Given the description of an element on the screen output the (x, y) to click on. 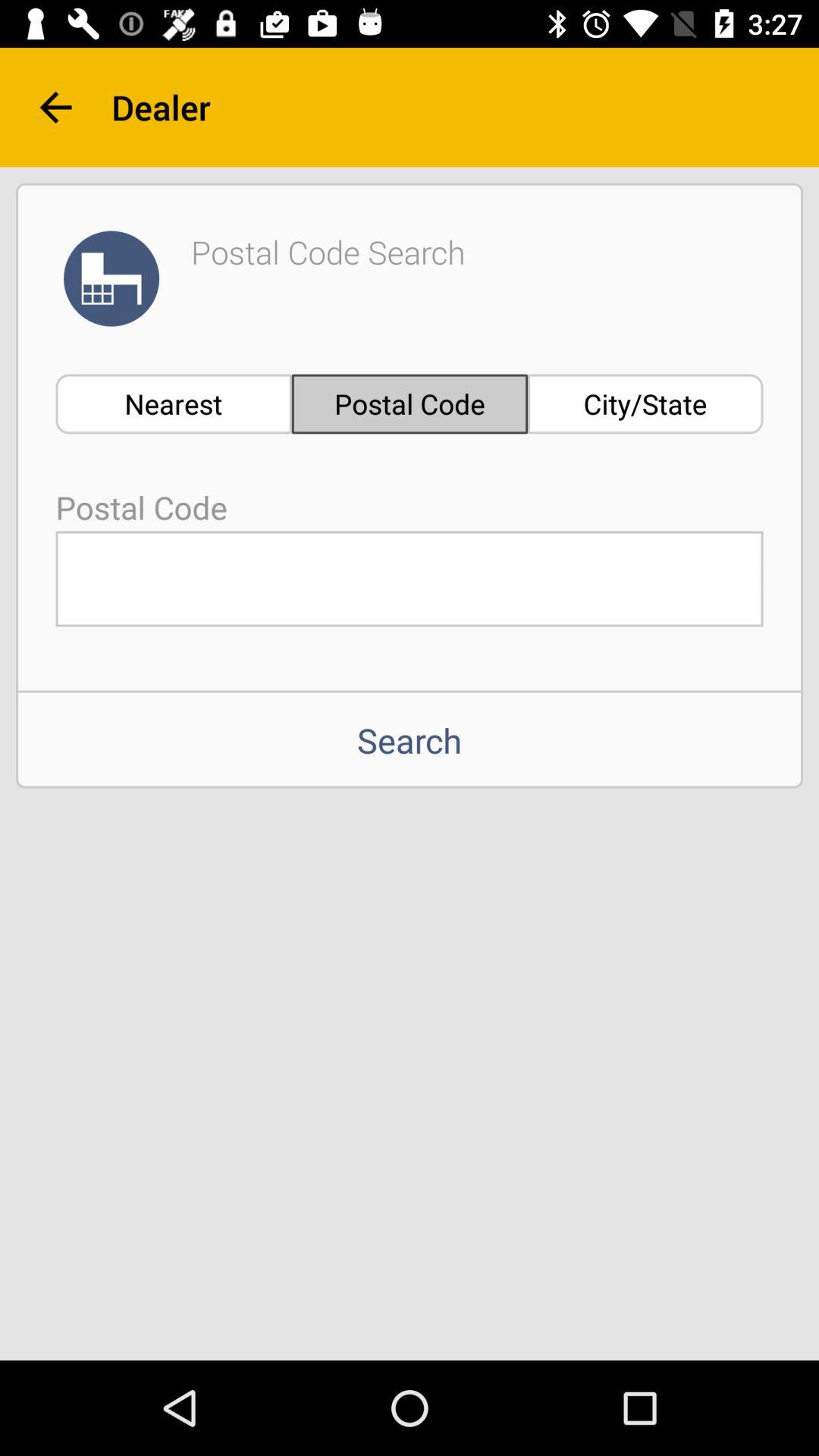
choose item above the postal code item (173, 403)
